Given the description of an element on the screen output the (x, y) to click on. 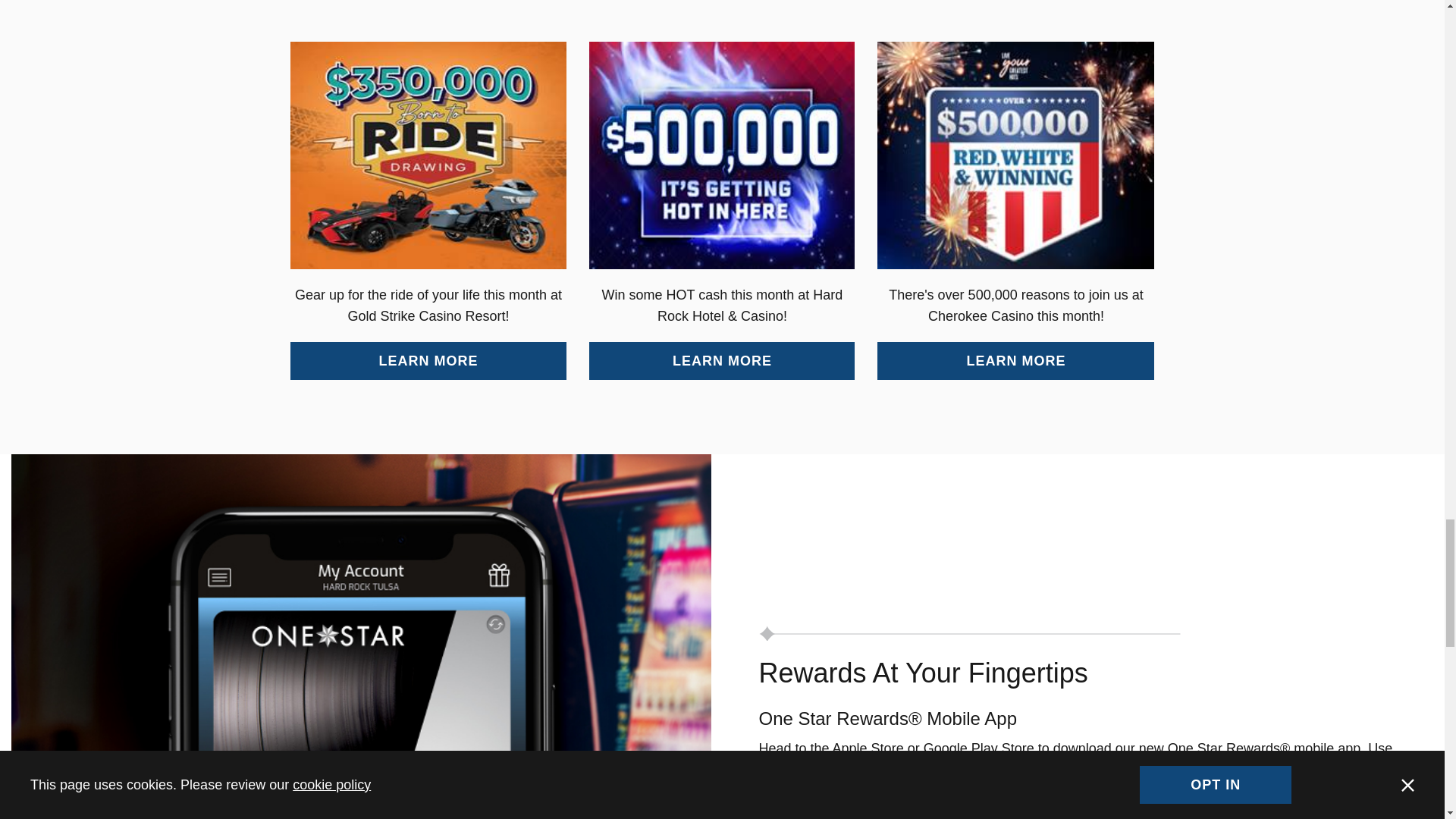
LEARN MORE (1015, 361)
LEARN MORE (427, 361)
LEARN MORE (721, 361)
